Given the description of an element on the screen output the (x, y) to click on. 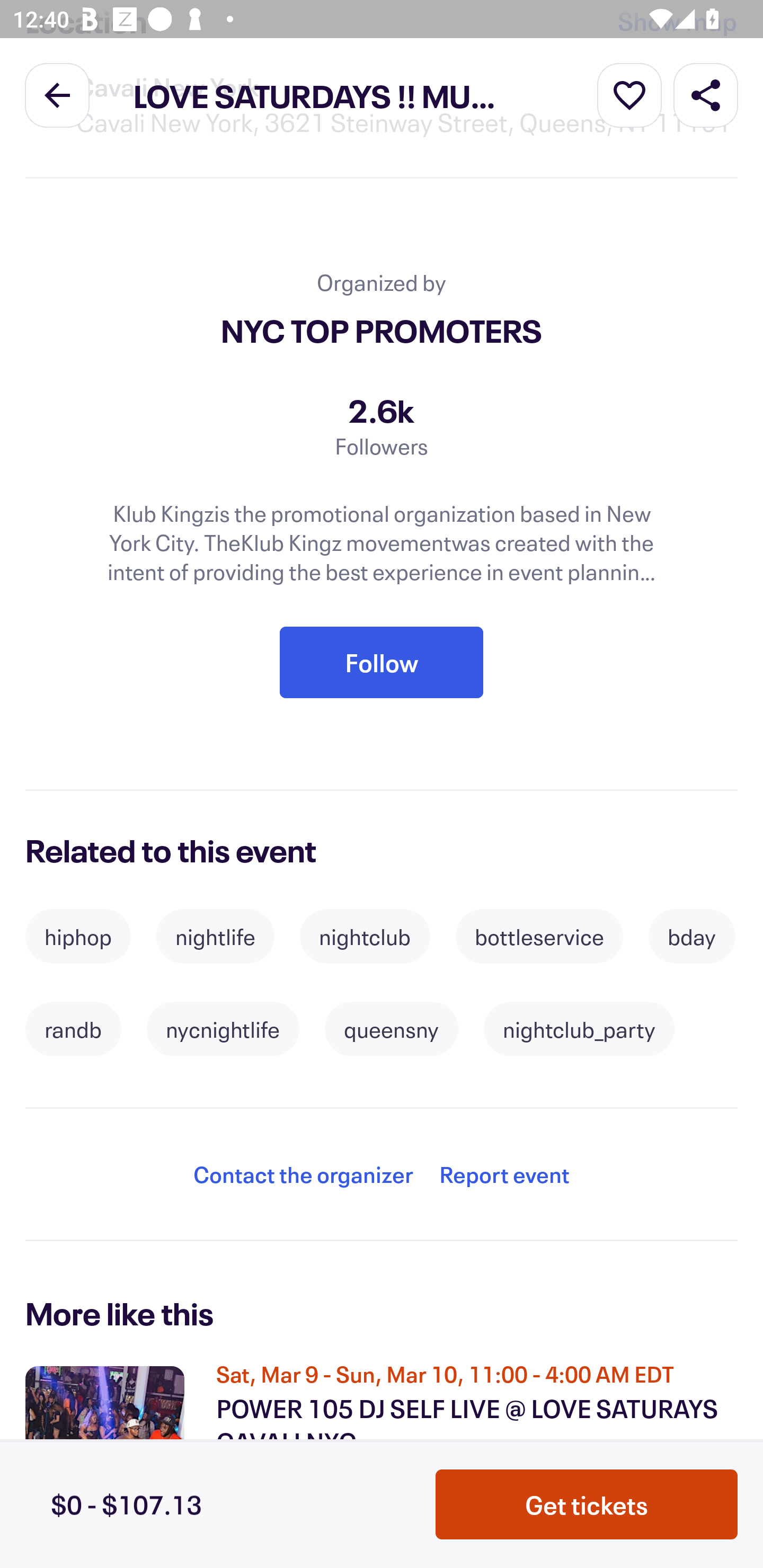
Back (57, 94)
More (629, 94)
Share (705, 94)
NYC TOP PROMOTERS (381, 329)
Follow (381, 662)
hiphop (78, 936)
nightlife (215, 936)
nightclub (364, 936)
bottleservice (539, 936)
bday (691, 936)
randb (73, 1028)
nycnightlife (222, 1028)
queensny (391, 1028)
nightclub_party (578, 1028)
Contact the organizer (303, 1174)
Report event (504, 1174)
Get tickets (586, 1504)
